Given the description of an element on the screen output the (x, y) to click on. 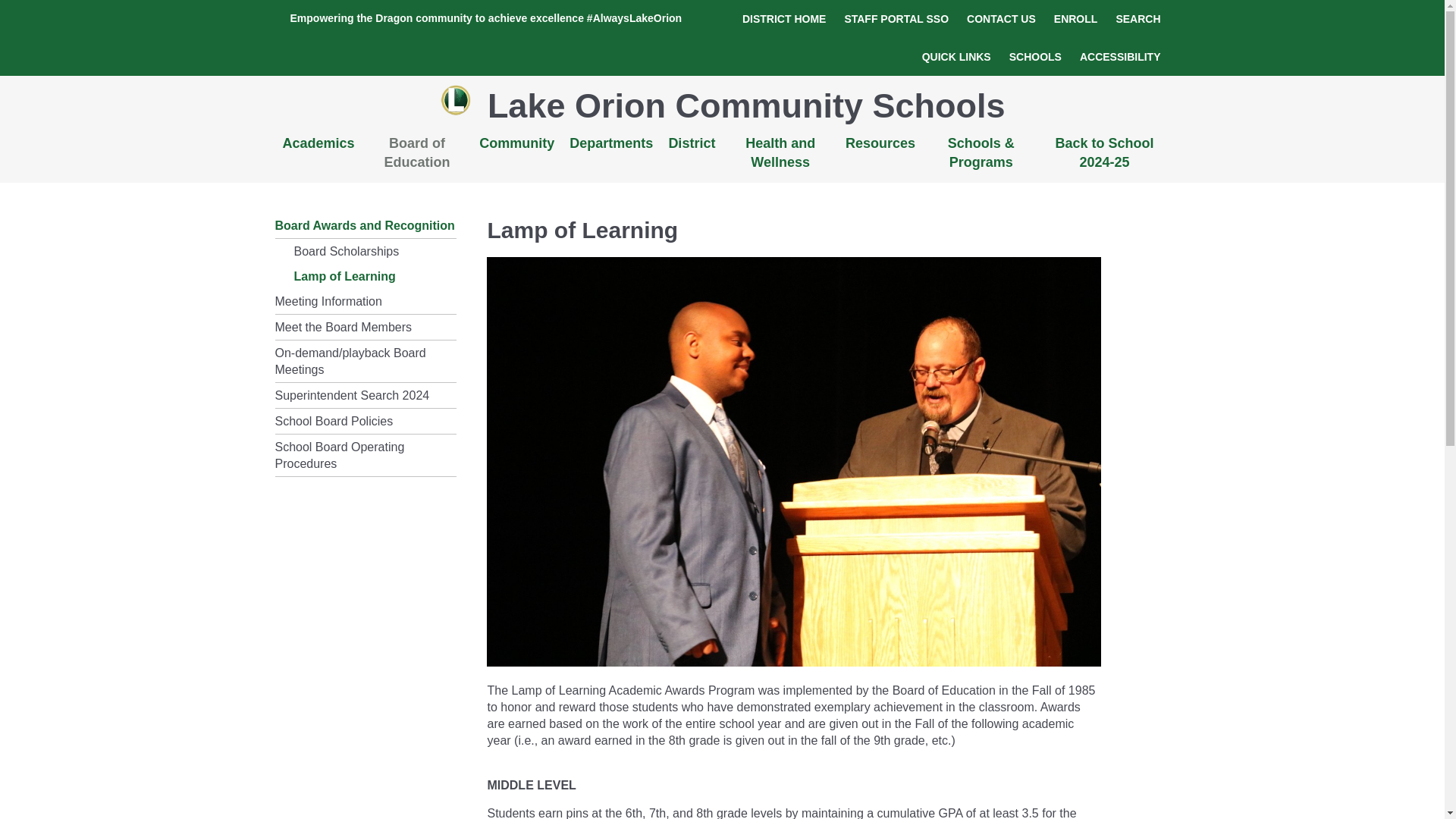
STAFF PORTAL SSO (895, 18)
ACCESSIBILITY (1120, 56)
CONTACT US (1001, 18)
Academics (317, 143)
SEARCH (1137, 18)
SCHOOLS (1034, 56)
QUICK LINKS (956, 56)
Lake Orion Community Schools (456, 100)
DISTRICT HOME (783, 18)
ENROLL (1075, 18)
Lake Orion Community Schools (741, 105)
